Given the description of an element on the screen output the (x, y) to click on. 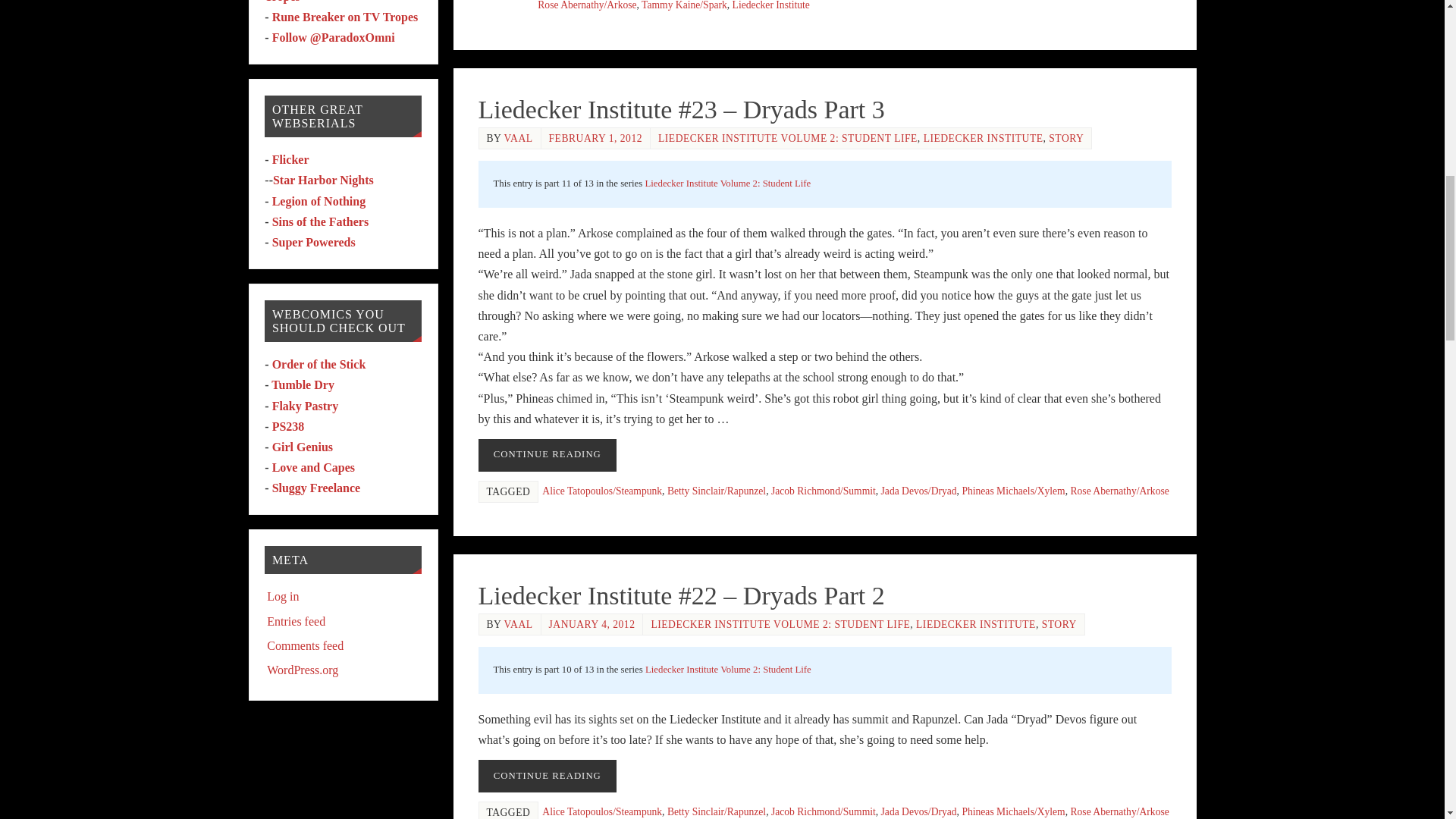
View all posts by Vaal (517, 138)
Liedecker Institute Volume 2: Student Life (727, 183)
View all posts by Vaal (517, 624)
